Given the description of an element on the screen output the (x, y) to click on. 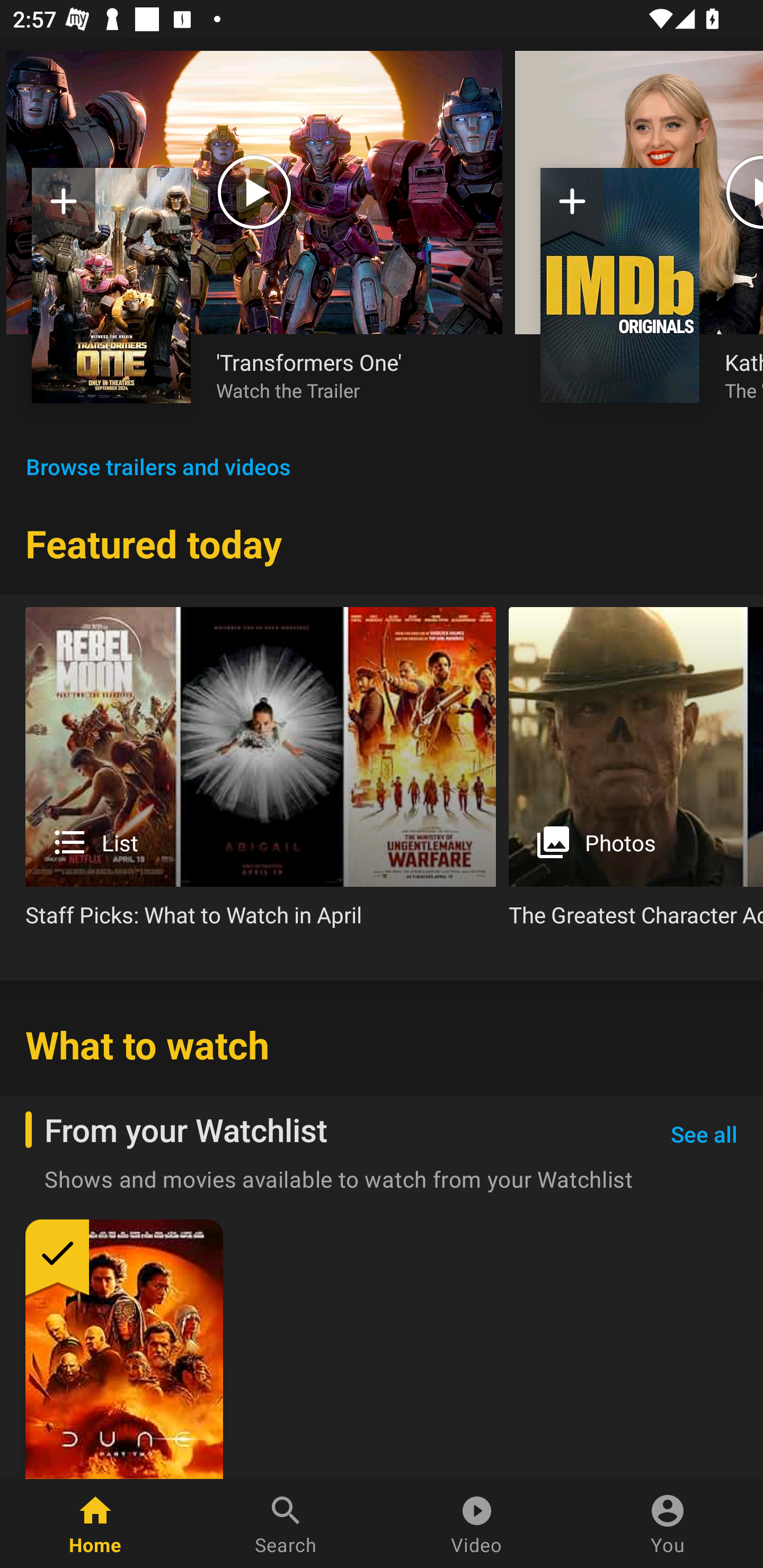
Not in watchlist (111, 284)
Not in watchlist (63, 207)
Not in watchlist (619, 284)
Not in watchlist (572, 207)
'Transformers One' Watch the Trailer (345, 374)
List Staff Picks: What to Watch in April (260, 774)
Photos The Greatest Character Actors of All Time (635, 774)
See all See all From your Watchlist (703, 1134)
Search (285, 1523)
Video (476, 1523)
You (667, 1523)
